Given the description of an element on the screen output the (x, y) to click on. 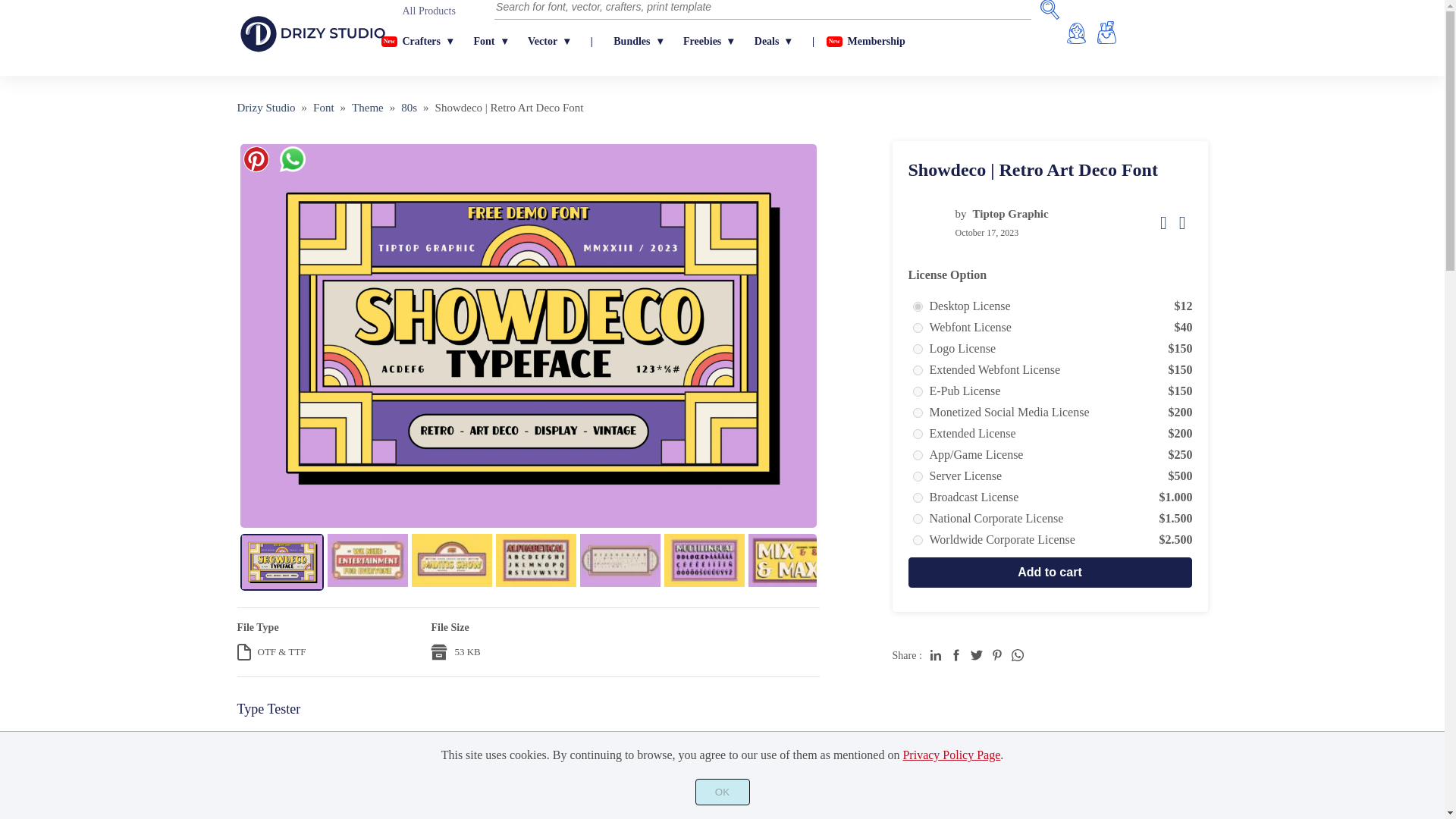
e-pub-license (917, 391)
Crafters (427, 42)
logo-license (917, 348)
Theme (368, 107)
Share to Linkedin (935, 654)
crafter-commercial-plan (917, 519)
server-license (917, 476)
extended-webfont-license (917, 370)
Share to Whatsapp Contact (1017, 654)
business-commercial-plan (917, 540)
Share to Pinterest (997, 654)
Open Customer Account Navigation (1076, 30)
Share to whatsapp (291, 162)
Font (323, 107)
monetized-social-media-license (917, 412)
